Given the description of an element on the screen output the (x, y) to click on. 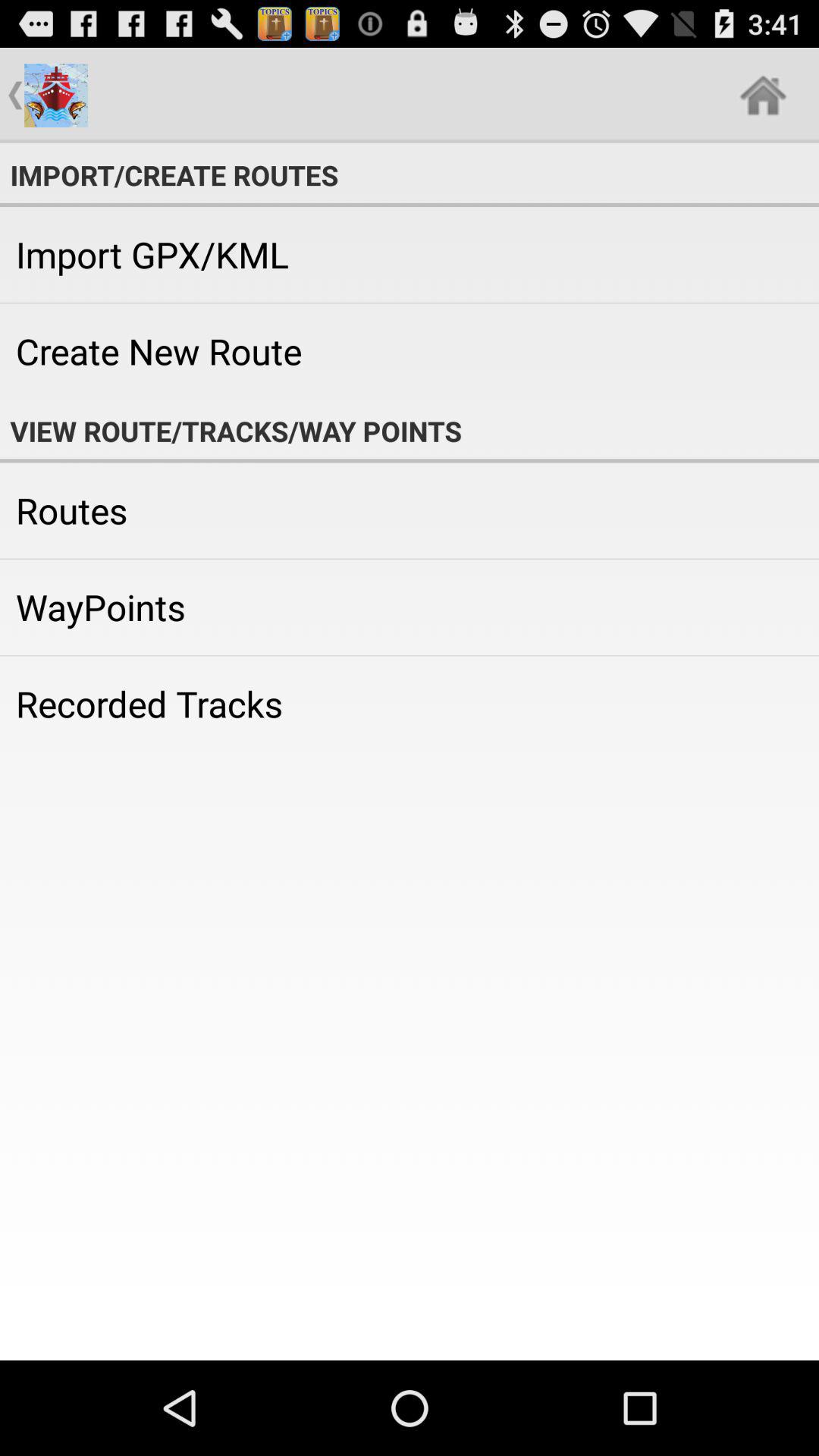
turn on the item above the view route tracks app (409, 351)
